Given the description of an element on the screen output the (x, y) to click on. 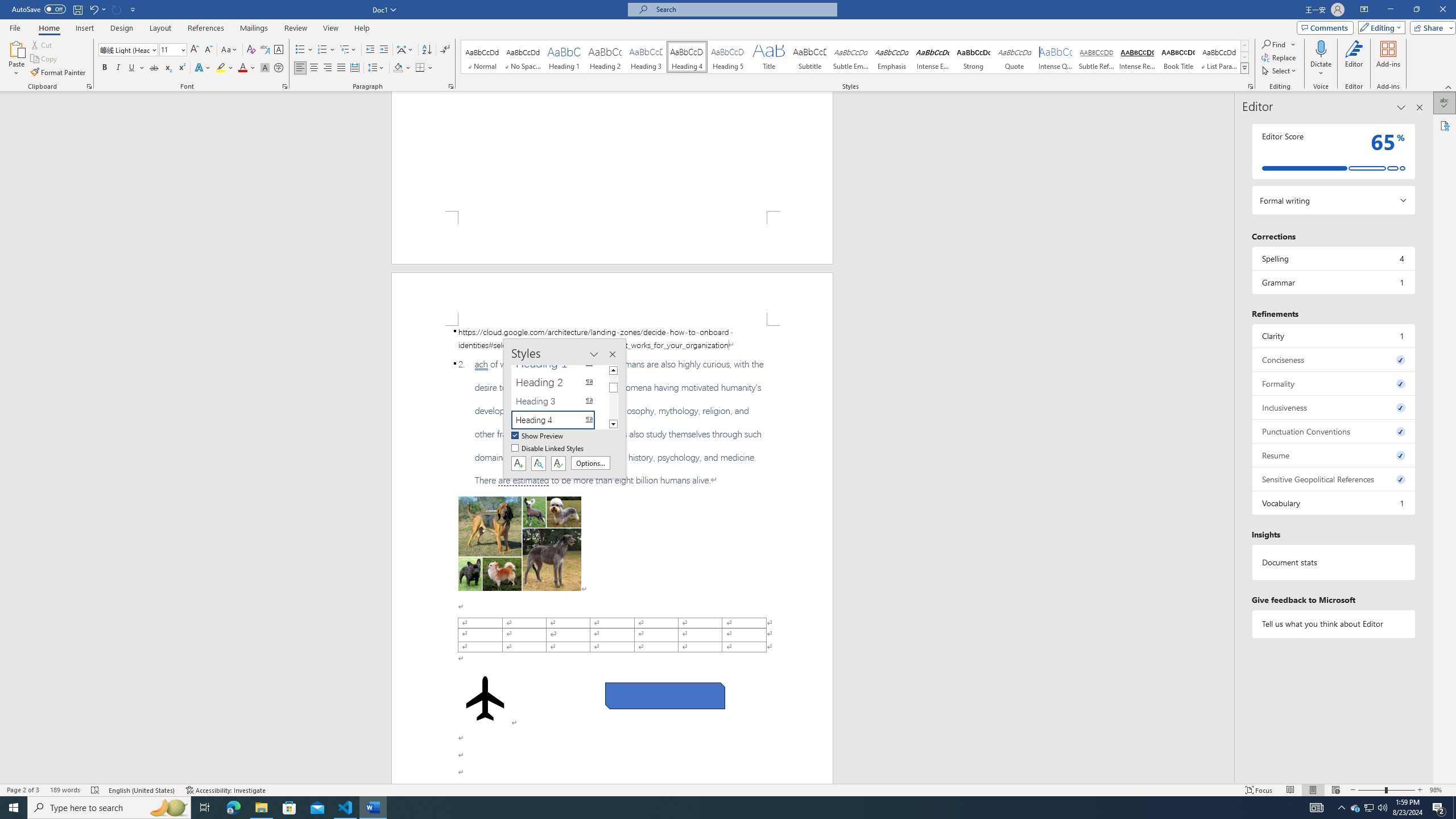
Character Border (278, 49)
Vocabulary, 1 issue. Press space or enter to review items. (1333, 502)
Sort... (426, 49)
Clear Formatting (250, 49)
Emphasis (891, 56)
Justify (340, 67)
Quote (1014, 56)
References (205, 28)
Editor (1353, 58)
Accessibility Checker Accessibility: Investigate (226, 790)
File Tab (15, 27)
Restore Down (1416, 9)
Find (1274, 44)
Paste (16, 58)
